Given the description of an element on the screen output the (x, y) to click on. 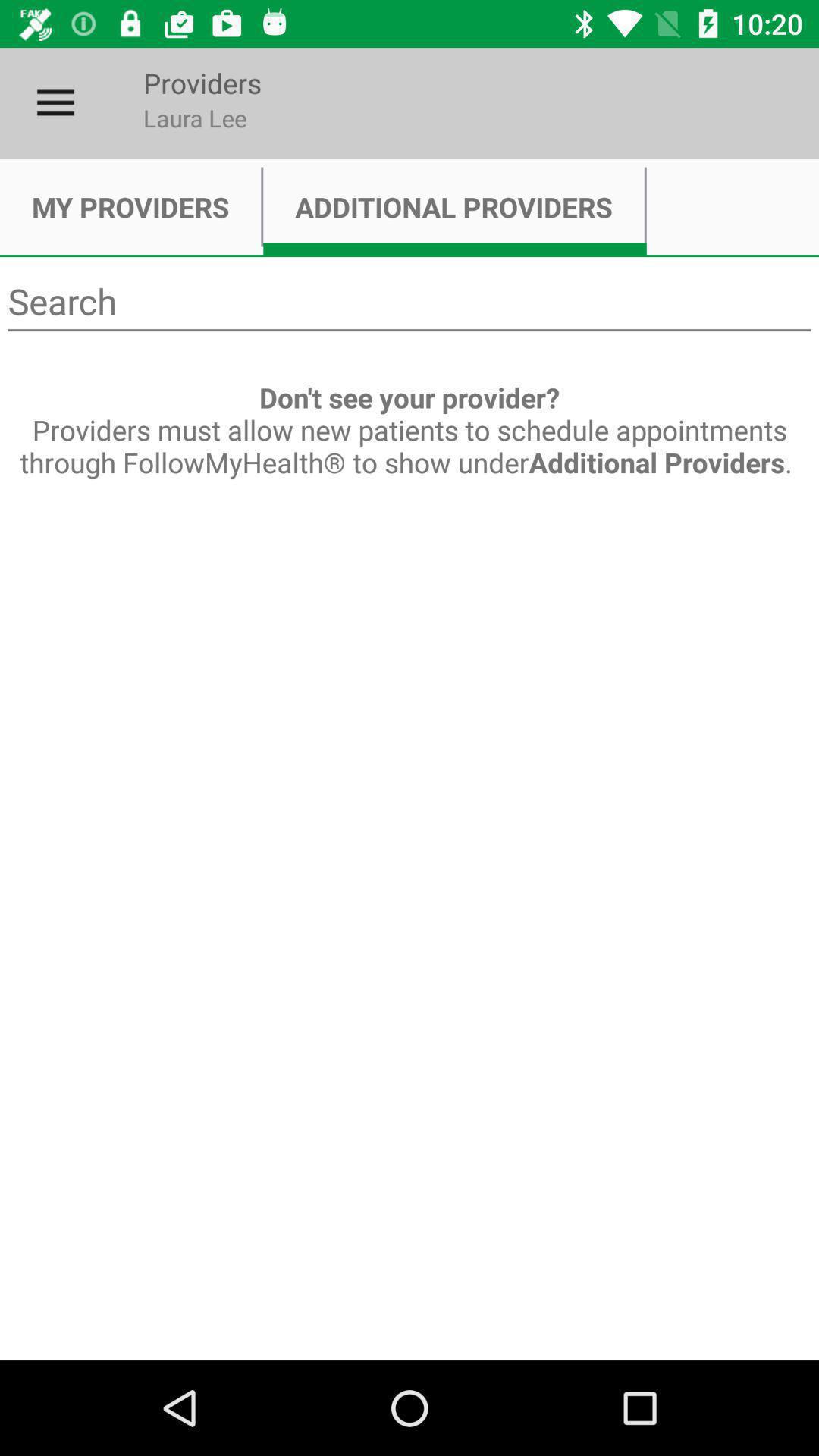
press the item above don t see icon (409, 301)
